Given the description of an element on the screen output the (x, y) to click on. 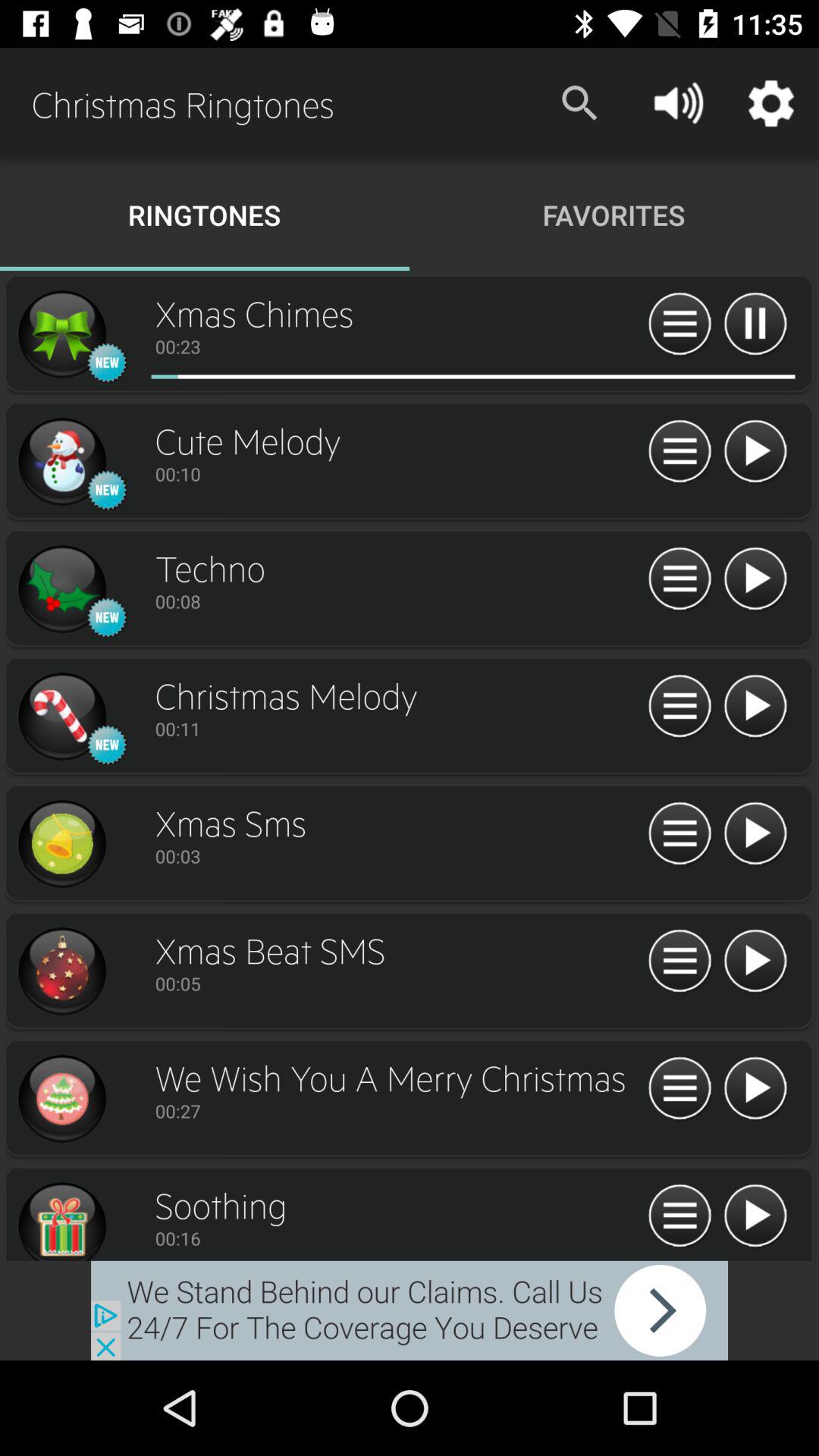
play (755, 451)
